Given the description of an element on the screen output the (x, y) to click on. 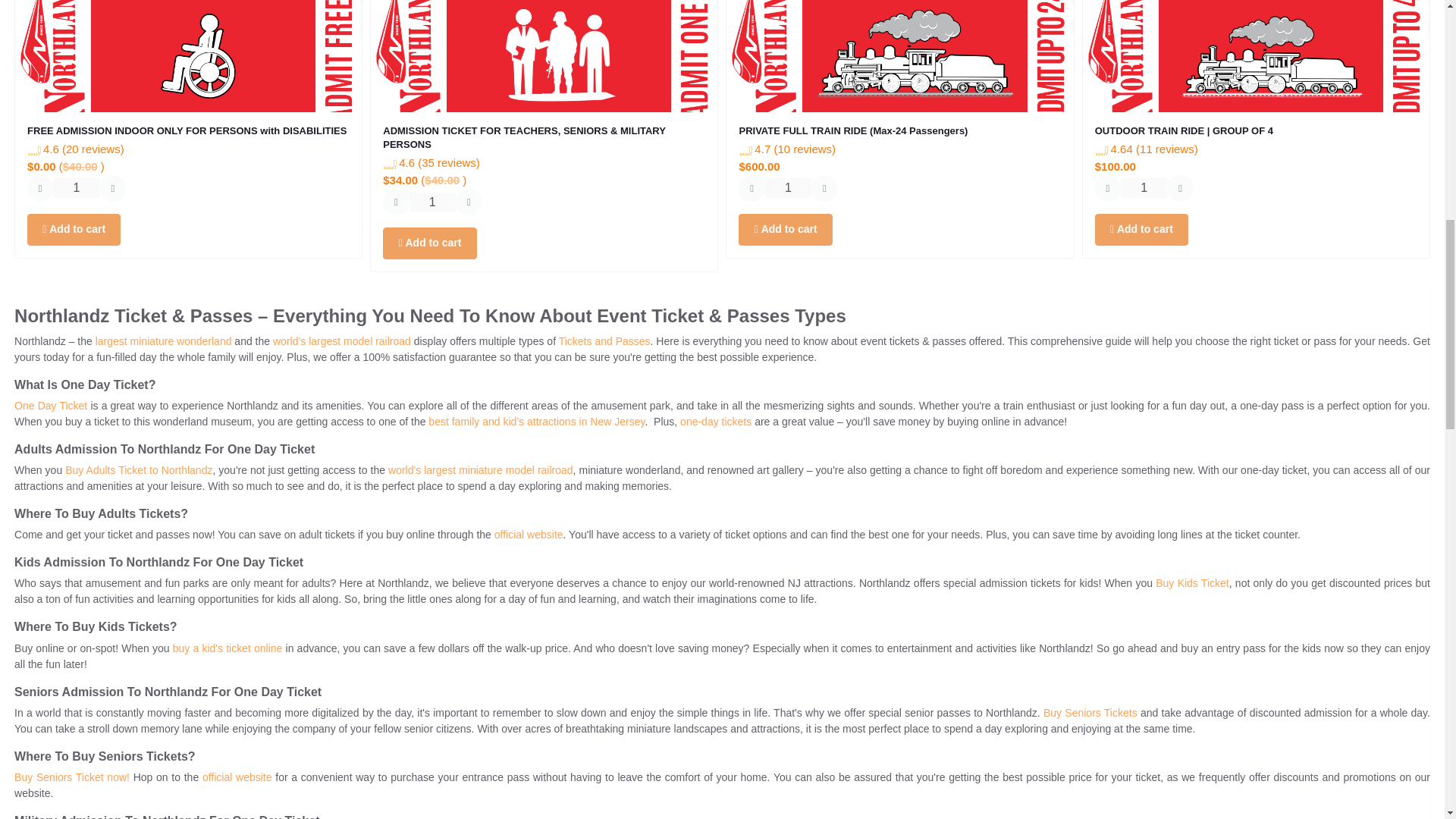
1 (432, 202)
1 (1144, 188)
1 (787, 188)
1 (75, 188)
